Given the description of an element on the screen output the (x, y) to click on. 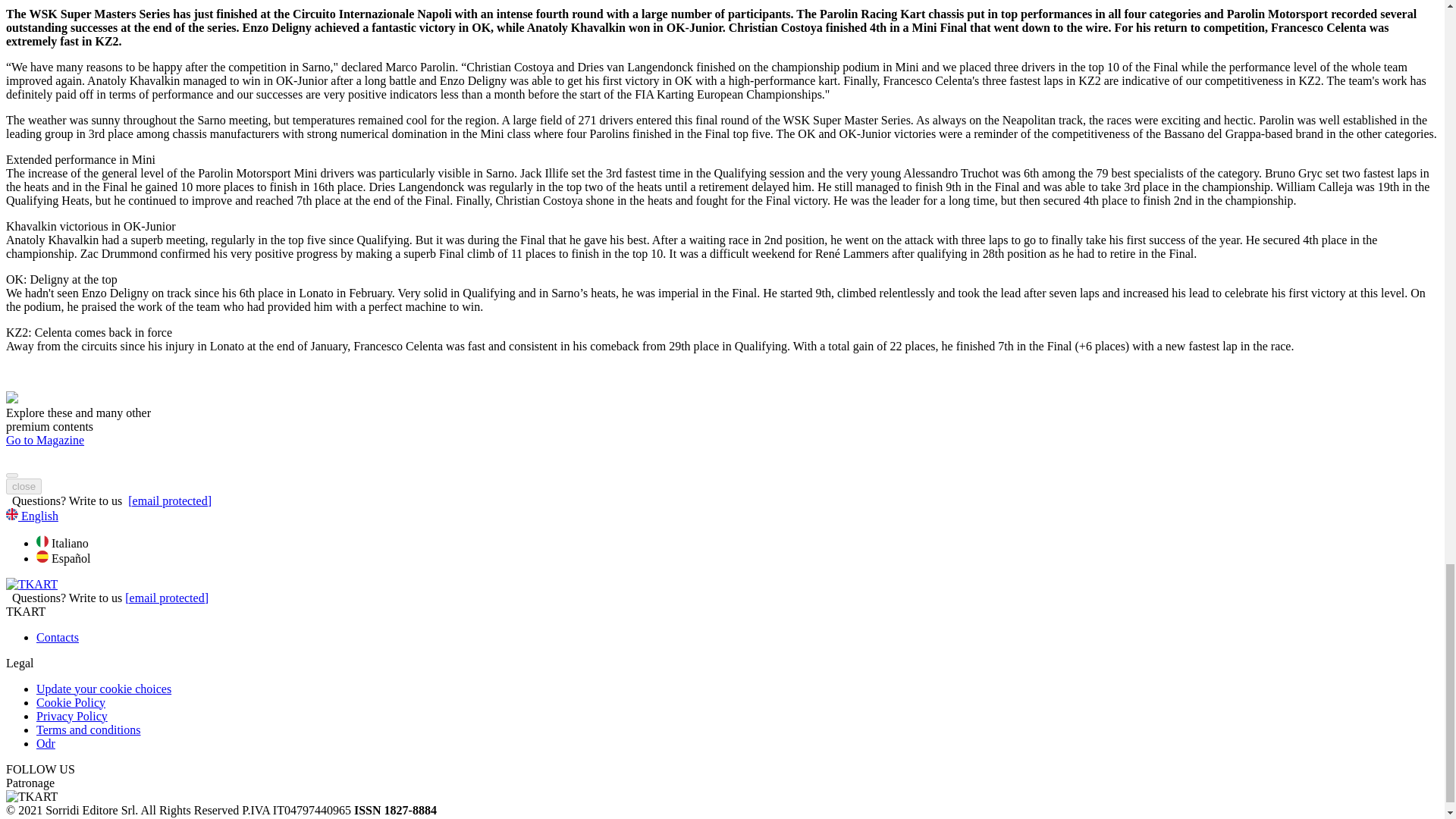
Aggiorna scelte cookie (103, 688)
Privacy Policy (71, 716)
Termini e condizioni (88, 729)
Cookie Policy (70, 702)
